Given the description of an element on the screen output the (x, y) to click on. 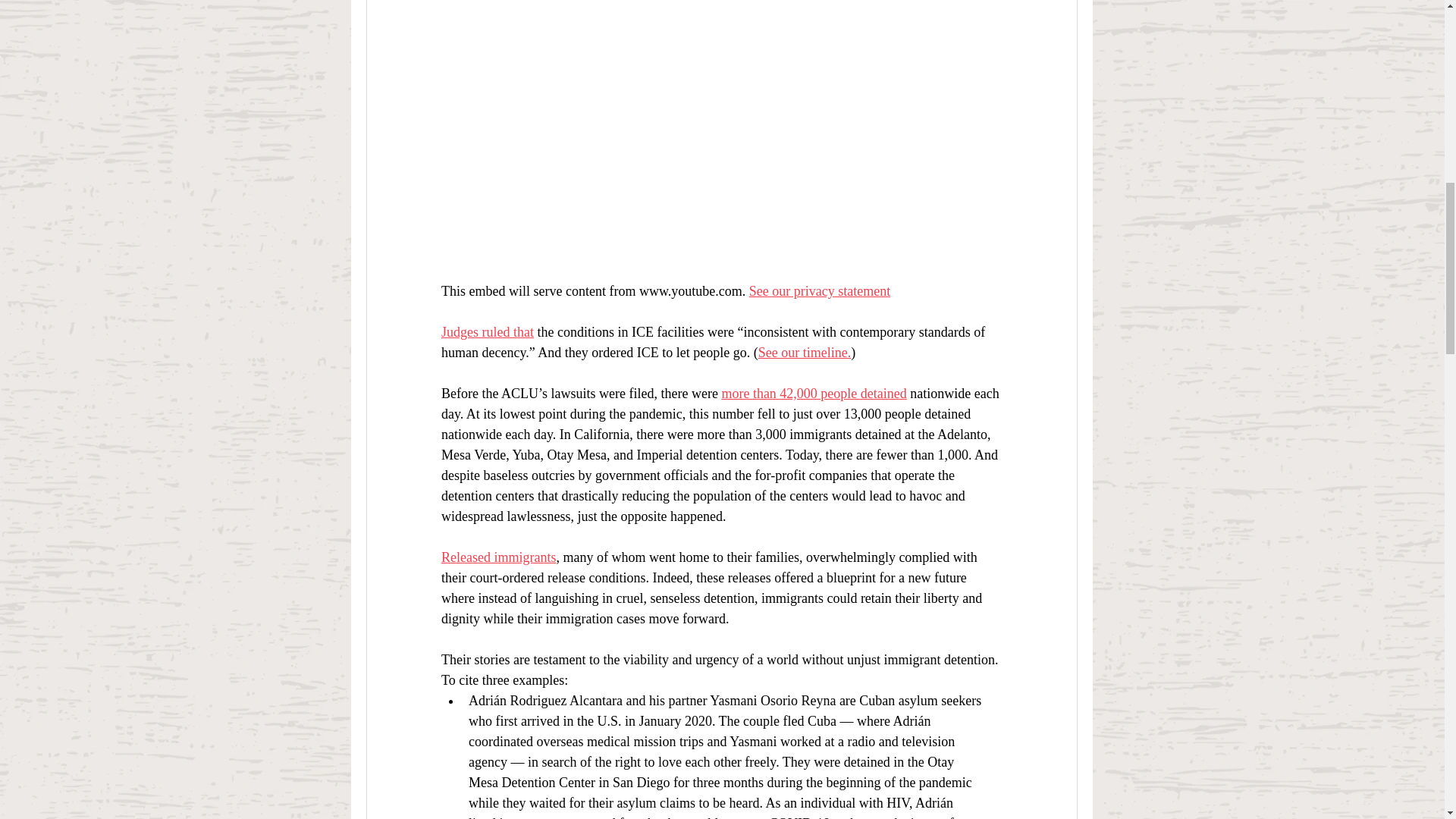
See our privacy statement (818, 290)
See our timeline. (803, 352)
Released immigrants (498, 557)
more than 42,000 people detained (812, 393)
Judges ruled that (487, 331)
